Given the description of an element on the screen output the (x, y) to click on. 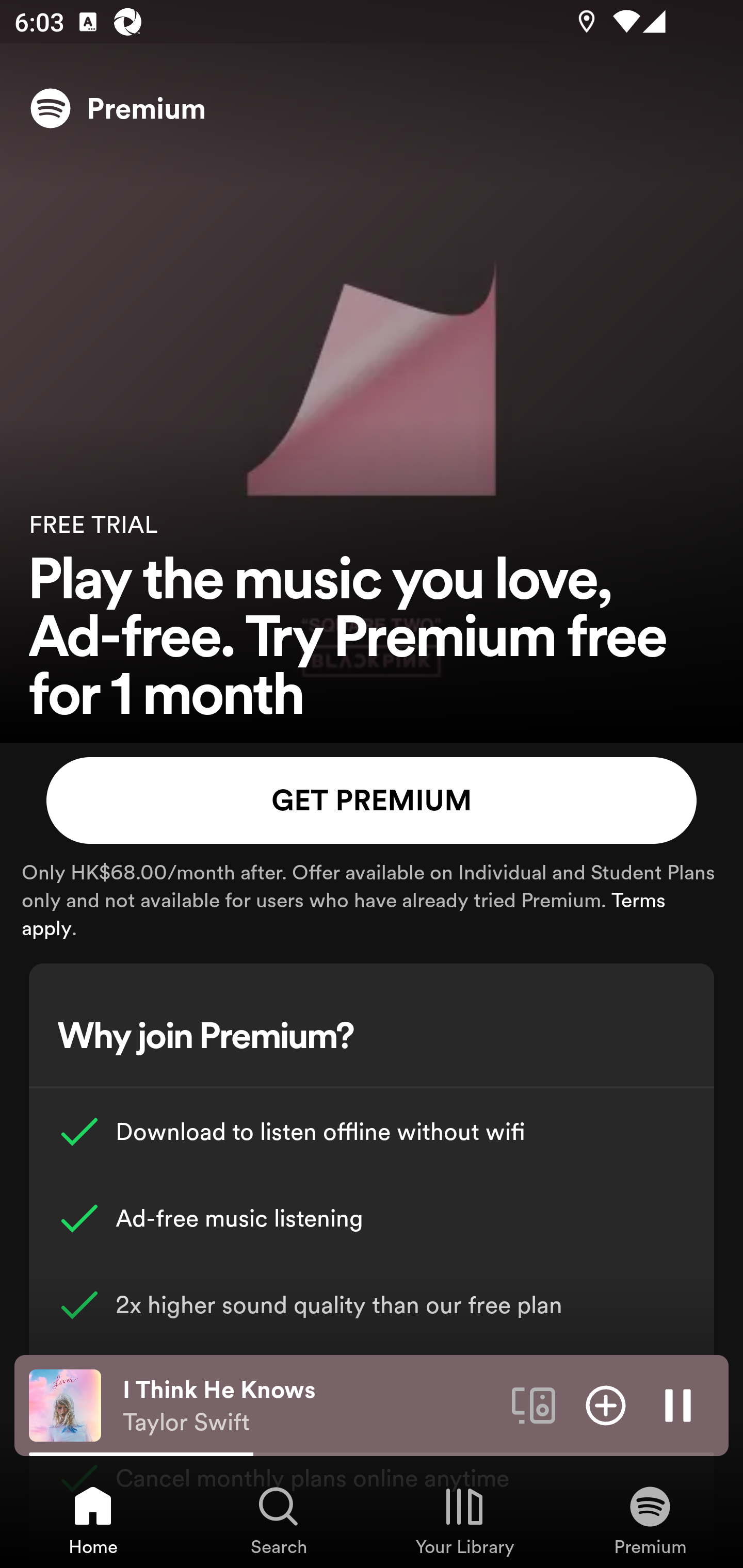
GET PREMIUM (371, 800)
I Think He Knows Taylor Swift (309, 1405)
The cover art of the currently playing track (64, 1404)
Connect to a device. Opens the devices menu (533, 1404)
Add item (605, 1404)
Pause (677, 1404)
Home, Tab 1 of 4 Home Home (92, 1519)
Search, Tab 2 of 4 Search Search (278, 1519)
Your Library, Tab 3 of 4 Your Library Your Library (464, 1519)
Premium, Tab 4 of 4 Premium Premium (650, 1519)
